Given the description of an element on the screen output the (x, y) to click on. 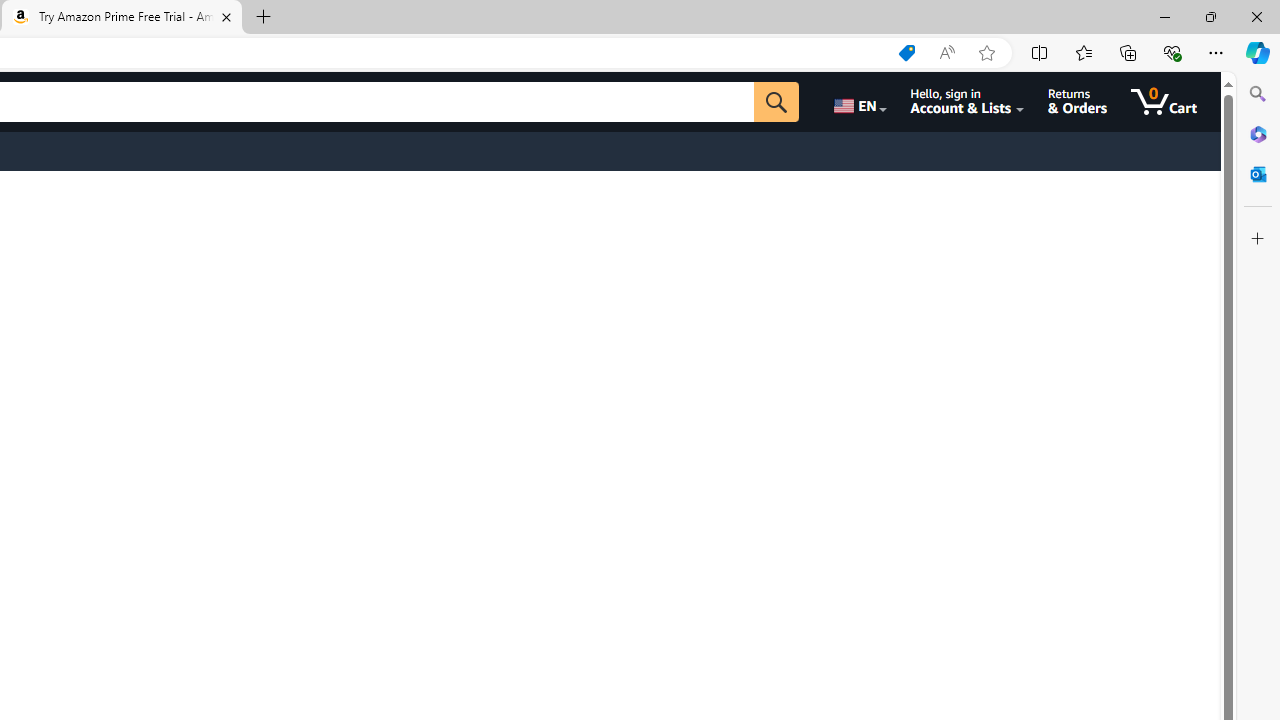
Returns & Orders (1077, 101)
Hello, sign in Account & Lists (967, 101)
Go (776, 101)
